Given the description of an element on the screen output the (x, y) to click on. 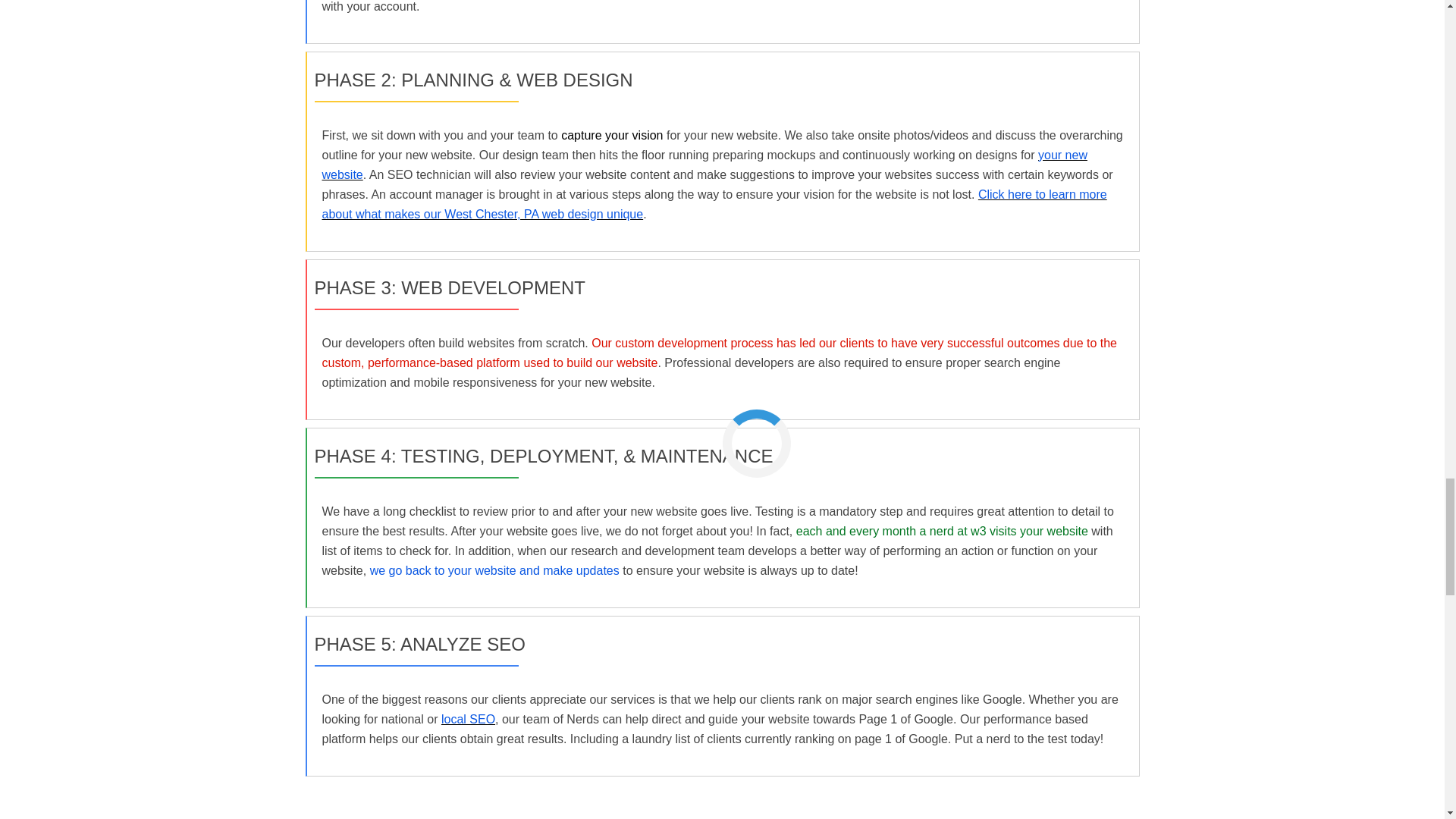
local SEO (468, 718)
your new website (703, 164)
